Given the description of an element on the screen output the (x, y) to click on. 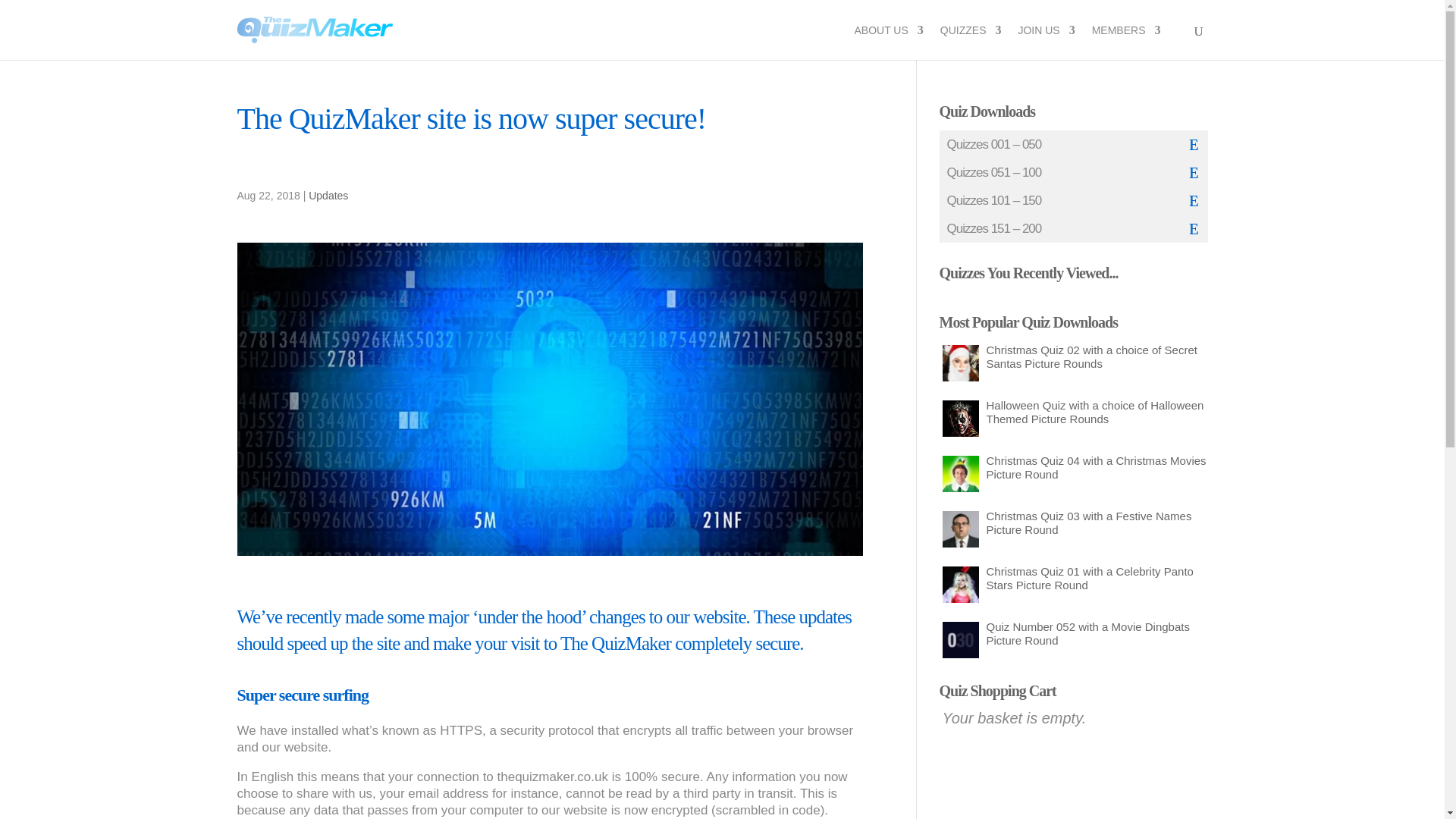
ABOUT US (888, 42)
Christmas Quiz 04 with a Christmas Movies Picture Round (960, 473)
Christmas Quiz 01 with a Celebrity Panto Stars Picture Round (1074, 577)
Christmas Quiz 03 with a Festive Names Picture Round (960, 529)
Updates (327, 195)
Christmas Quiz 03 with a Festive Names Picture Round (960, 531)
Quiz Number 052 with a Movie Dingbats Picture Round (1074, 632)
Christmas Quiz 03 with a Festive Names Picture Round (1074, 521)
Christmas Quiz 04 with a Christmas Movies Picture Round (1074, 466)
Quiz Number 052 with a Movie Dingbats Picture Round (960, 641)
Christmas Quiz 01 with a Celebrity Panto Stars Picture Round (960, 586)
JOIN US (1045, 42)
Christmas Quiz 01 with a Celebrity Panto Stars Picture Round (960, 584)
